Given the description of an element on the screen output the (x, y) to click on. 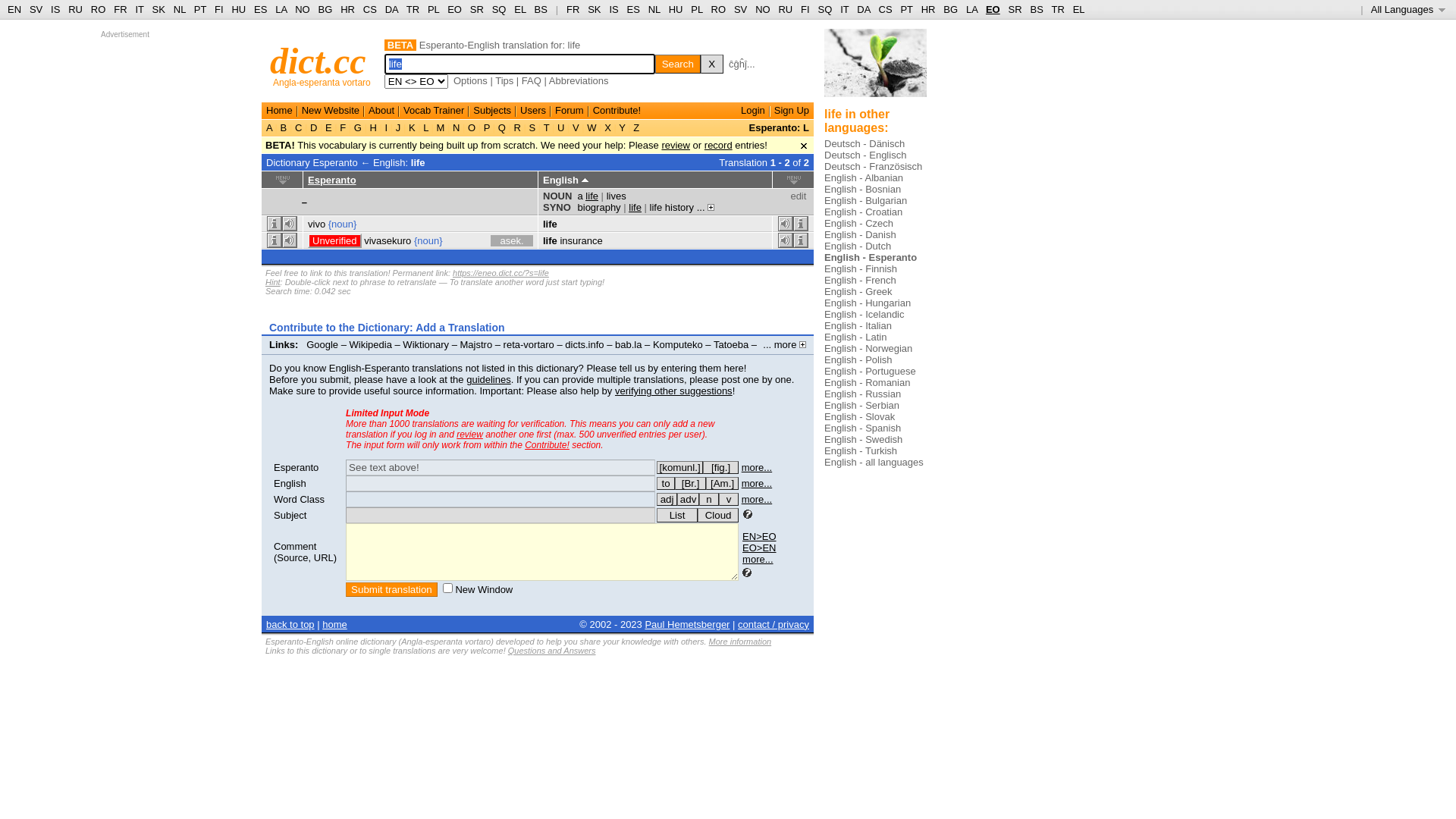
life Element type: text (418, 161)
English - Croatian Element type: text (863, 211)
for verbs Element type: hover (665, 482)
PT Element type: text (906, 9)
H Element type: text (373, 127)
Contribute! Element type: text (617, 110)
SV Element type: text (740, 9)
adv Element type: text (688, 498)
M Element type: text (440, 127)
Y Element type: text (621, 127)
Dictionary Element type: text (288, 161)
Contribute to the Dictionary: Add a Translation Element type: text (387, 327)
... more Element type: text (784, 344)
https://eneo.dict.cc/?s=life Element type: text (500, 272)
Login Element type: text (752, 110)
V Element type: text (575, 127)
guidelines Element type: text (488, 379)
Home Element type: text (279, 110)
Z Element type: text (636, 127)
biography Element type: text (599, 207)
home Element type: text (334, 624)
English - all languages Element type: text (873, 461)
Wiktionary Element type: text (425, 344)
English - Bulgarian Element type: text (865, 200)
life Element type: text (634, 207)
dicts.info Element type: text (583, 344)
CS Element type: text (369, 9)
X Element type: text (608, 127)
English - Esperanto Element type: text (870, 257)
English - Italian Element type: text (857, 325)
life Element type: text (549, 223)
ecology concept. rising sprout... Element type: hover (875, 68)
SK Element type: text (593, 9)
IT Element type: text (138, 9)
EO>EN Element type: text (758, 547)
SR Element type: text (1015, 9)
FI Element type: text (804, 9)
FAQ Element type: text (531, 80)
BS Element type: text (1035, 9)
SV Element type: text (35, 9)
dict.cc Element type: text (317, 60)
ES Element type: text (633, 9)
English - Serbian Element type: text (861, 405)
List Element type: text (676, 515)
...  Element type: text (705, 207)
more... Element type: text (756, 499)
All Languages  Element type: text (1408, 9)
English - Spanish Element type: text (862, 427)
Esperanto: L Element type: text (779, 127)
English - Polish Element type: text (858, 359)
NO Element type: text (762, 9)
Abbreviations Element type: text (578, 80)
more... Element type: text (756, 467)
HU Element type: text (238, 9)
more... Element type: text (757, 558)
(esp.) American English Element type: hover (722, 482)
Unverified Element type: text (334, 240)
Deutsch - Englisch Element type: text (865, 154)
English Element type: text (289, 483)
[Am.] Element type: text (722, 482)
HU Element type: text (675, 9)
NO Element type: text (302, 9)
more... Element type: text (756, 483)
adj Element type: text (666, 498)
Paul Hemetsberger Element type: text (686, 624)
bab.la Element type: text (628, 344)
English - Norwegian Element type: text (868, 348)
life history Element type: text (671, 207)
About Element type: text (381, 110)
English - Russian Element type: text (862, 393)
HR Element type: text (347, 9)
TR Element type: text (1057, 9)
X Element type: text (711, 63)
G Element type: text (357, 127)
English - Turkish Element type: text (860, 450)
B Element type: text (283, 127)
PL Element type: text (696, 9)
English - Latin Element type: text (855, 336)
Sign Up Element type: text (791, 110)
Hint Element type: text (272, 281)
English - French Element type: text (860, 279)
vivasekuro Element type: text (387, 240)
New Website Element type: text (330, 110)
PL Element type: text (433, 9)
P Element type: text (486, 127)
SR Element type: text (476, 9)
RO Element type: text (718, 9)
CS Element type: text (884, 9)
R Element type: text (517, 127)
n Element type: text (708, 498)
Search Element type: text (677, 63)
Tatoeba Element type: text (730, 344)
LA Element type: text (971, 9)
BG Element type: text (950, 9)
Tips Element type: text (504, 80)
EN>EO Element type: text (758, 536)
A Element type: text (270, 127)
W Element type: text (591, 127)
T Element type: text (546, 127)
ES Element type: text (260, 9)
E Element type: text (328, 127)
EO Element type: text (454, 9)
Subjects Element type: text (492, 110)
a life Element type: text (587, 195)
IS Element type: text (54, 9)
back to top Element type: text (290, 624)
Customize Links Element type: text (308, 355)
FI Element type: text (218, 9)
DA Element type: text (391, 9)
PT Element type: text (200, 9)
Forum Element type: text (569, 110)
IS Element type: text (613, 9)
FR Element type: text (572, 9)
contact / privacy Element type: text (773, 624)
English - Finnish Element type: text (860, 268)
Cloud Element type: text (717, 515)
lives Element type: text (616, 195)
LA Element type: text (280, 9)
Q Element type: text (501, 127)
v Element type: text (728, 498)
English - Hungarian Element type: text (867, 302)
L Element type: text (425, 127)
figursenca Element type: hover (720, 467)
(esp.) British English Element type: hover (690, 482)
[komunl.] Element type: text (679, 467)
[fig.] Element type: text (720, 467)
J Element type: text (397, 127)
D Element type: text (313, 127)
Submit translation Element type: text (391, 589)
English - Icelandic Element type: text (864, 314)
life Element type: text (549, 240)
Questions and Answers Element type: text (552, 650)
IT Element type: text (844, 9)
HR Element type: text (928, 9)
English - Slovak Element type: text (859, 416)
reta-vortaro Element type: text (528, 344)
NL Element type: text (179, 9)
Options Element type: text (470, 80)
review Element type: text (469, 434)
BG Element type: text (325, 9)
BS Element type: text (540, 9)
Vocab Trainer Element type: text (433, 110)
Majstro Element type: text (476, 344)
FR Element type: text (119, 9)
[Br.] Element type: text (690, 482)
SK Element type: text (158, 9)
RU Element type: text (75, 9)
SQ Element type: text (824, 9)
Esperanto Element type: text (331, 179)
to Element type: text (665, 482)
EL Element type: text (519, 9)
DA Element type: text (862, 9)
English - Albanian Element type: text (863, 177)
Esperanto Element type: text (295, 467)
EL Element type: text (1079, 9)
review Element type: text (675, 144)
F Element type: text (342, 127)
English - Portuguese Element type: text (870, 370)
TR Element type: text (412, 9)
edit Element type: text (798, 195)
O Element type: text (470, 127)
English - Greek Element type: text (858, 291)
C Element type: text (297, 127)
Users Element type: text (533, 110)
N Element type: text (455, 127)
More information Element type: text (740, 641)
K Element type: text (411, 127)
SQ Element type: text (499, 9)
I Element type: text (386, 127)
RU Element type: text (785, 9)
English - Romanian Element type: text (867, 382)
English - Bosnian Element type: text (862, 188)
record Element type: text (718, 144)
English - Danish Element type: text (860, 234)
verifying other suggestions Element type: text (673, 390)
vivo Element type: text (316, 223)
asek. Element type: text (511, 240)
EN Element type: text (14, 9)
komunlingva Element type: hover (679, 467)
English - Czech Element type: text (858, 223)
U Element type: text (560, 127)
English - Dutch Element type: text (857, 245)
EO Element type: text (992, 9)
insurance Element type: text (580, 240)
S Element type: text (532, 127)
RO Element type: text (98, 9)
Google Element type: text (322, 344)
Contribute! Element type: text (546, 444)
NL Element type: text (654, 9)
English - Swedish Element type: text (863, 439)
Komputeko Element type: text (677, 344)
Wikipedia Element type: text (370, 344)
